Given the description of an element on the screen output the (x, y) to click on. 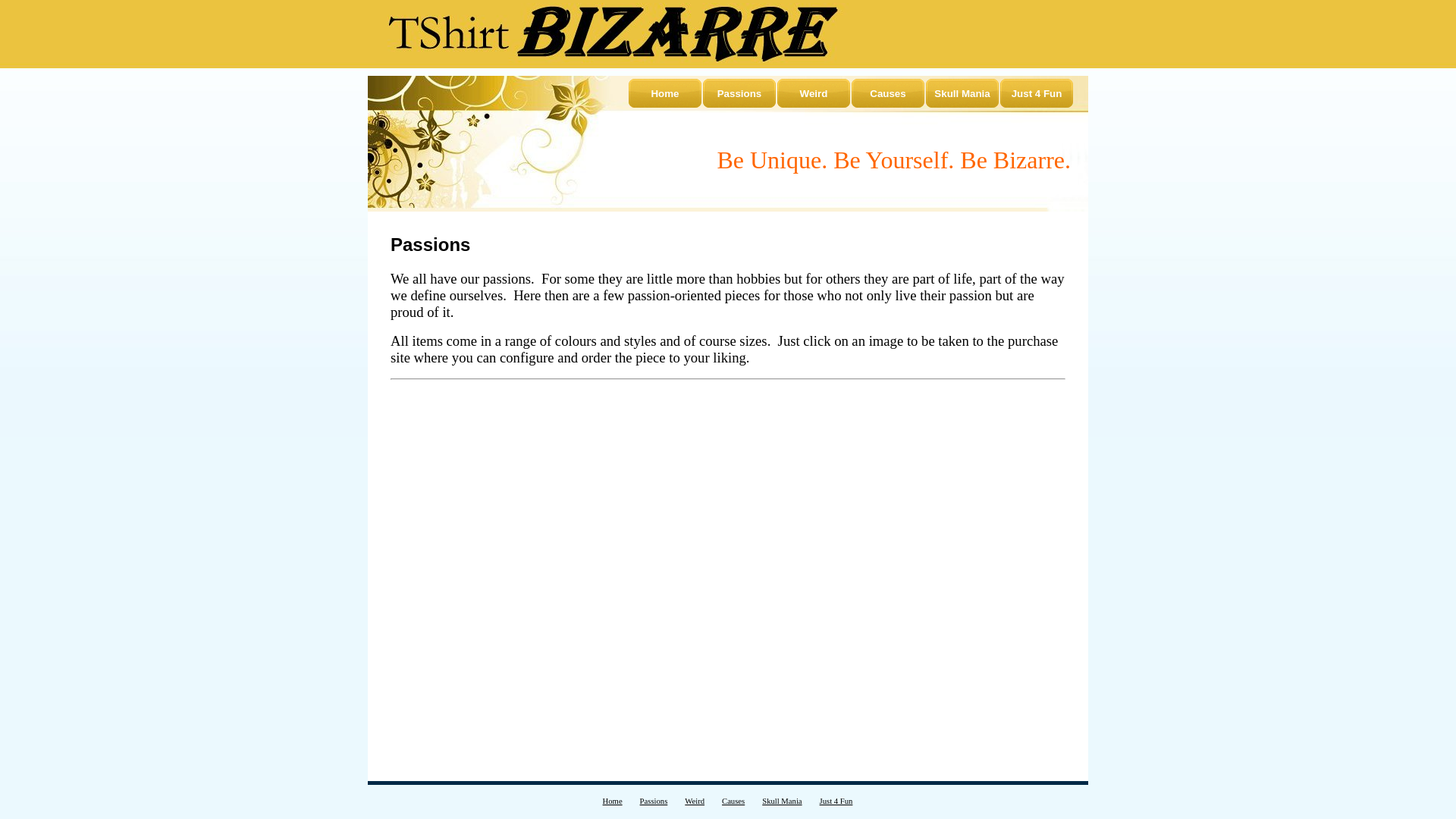
Causes (887, 93)
Skull Mania (781, 800)
Passions (739, 93)
Causes (733, 800)
Passions (654, 800)
Weird (694, 800)
Home (612, 800)
TShirtBIZARRE (611, 33)
Just 4 Fun (836, 800)
Just 4 Fun (1036, 93)
